Given the description of an element on the screen output the (x, y) to click on. 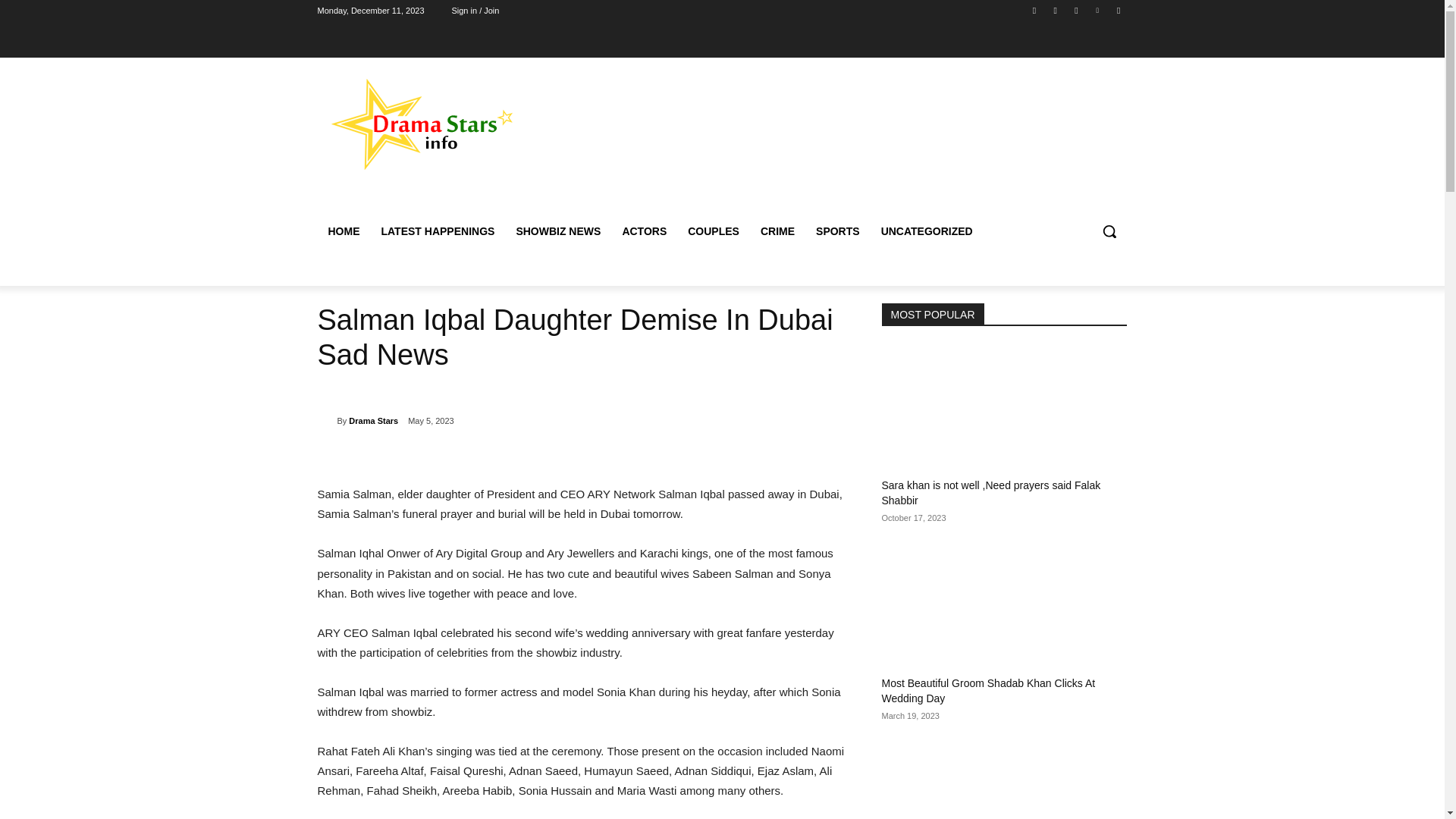
Drama Stars (326, 420)
Facebook (1034, 9)
COUPLES (713, 230)
SPORTS (837, 230)
Vimeo (1097, 9)
Twitter (1075, 9)
HOME (343, 230)
Youtube (1117, 9)
Drama Stars (373, 420)
LATEST HAPPENINGS (437, 230)
